Given the description of an element on the screen output the (x, y) to click on. 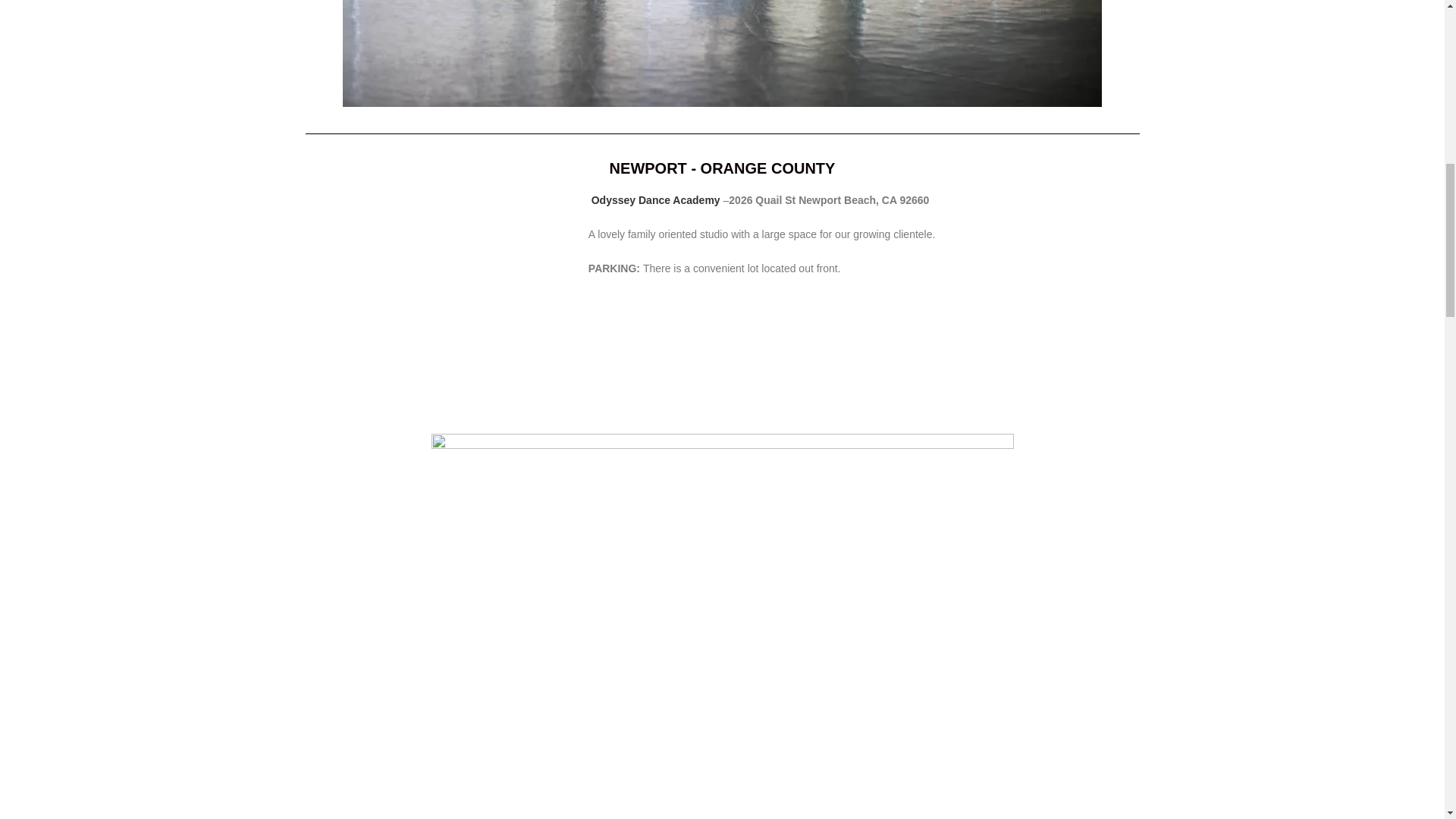
2026 Quail St  Newport Beach, CA 92660 (438, 304)
